Given the description of an element on the screen output the (x, y) to click on. 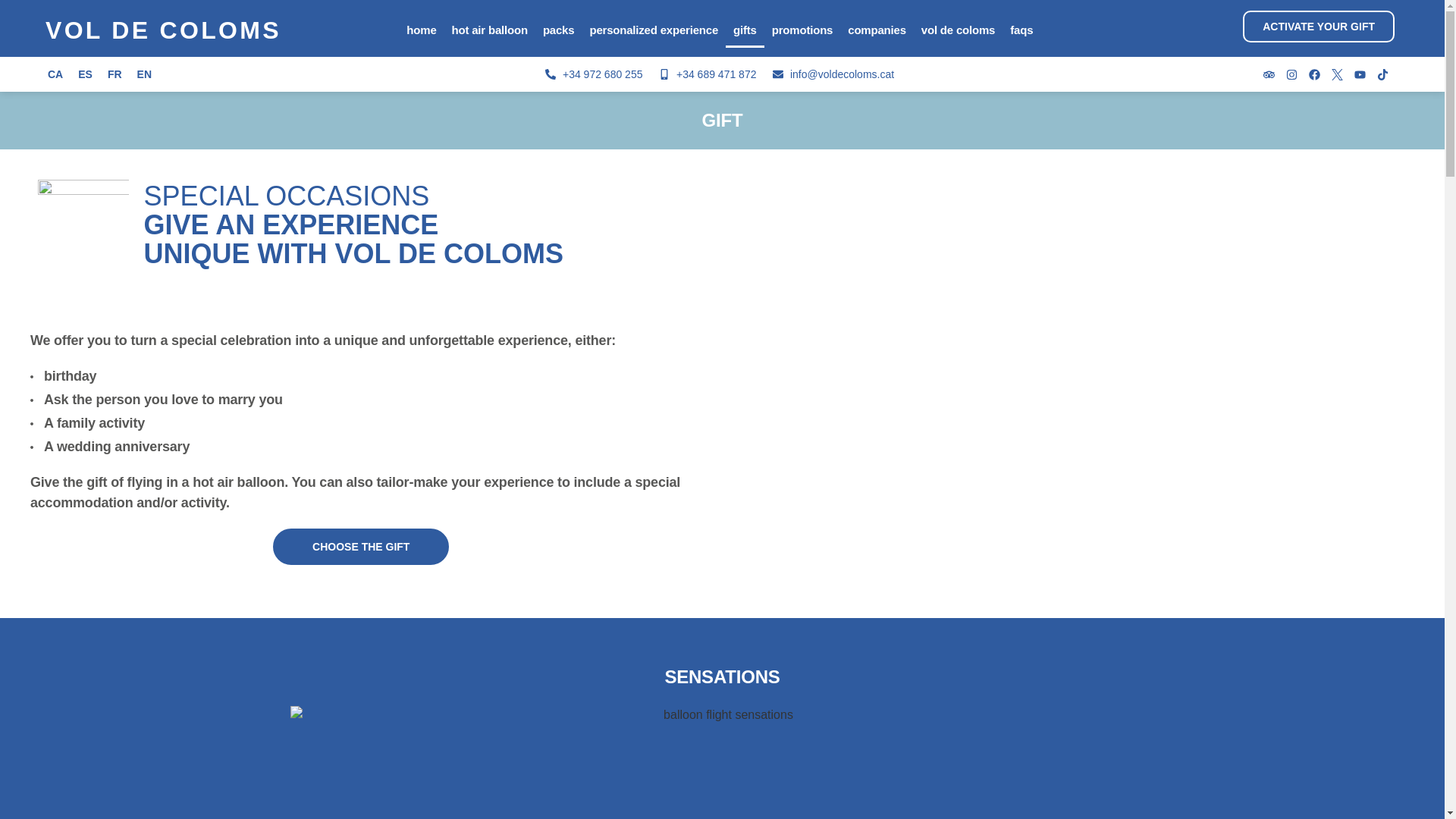
hot air balloon (489, 30)
faqs (1022, 30)
VOL DE COLOMS (166, 30)
vol de coloms (958, 30)
companies (877, 30)
packs (558, 30)
gifts (744, 30)
promotions (802, 30)
home (421, 30)
personalized experience (652, 30)
